Given the description of an element on the screen output the (x, y) to click on. 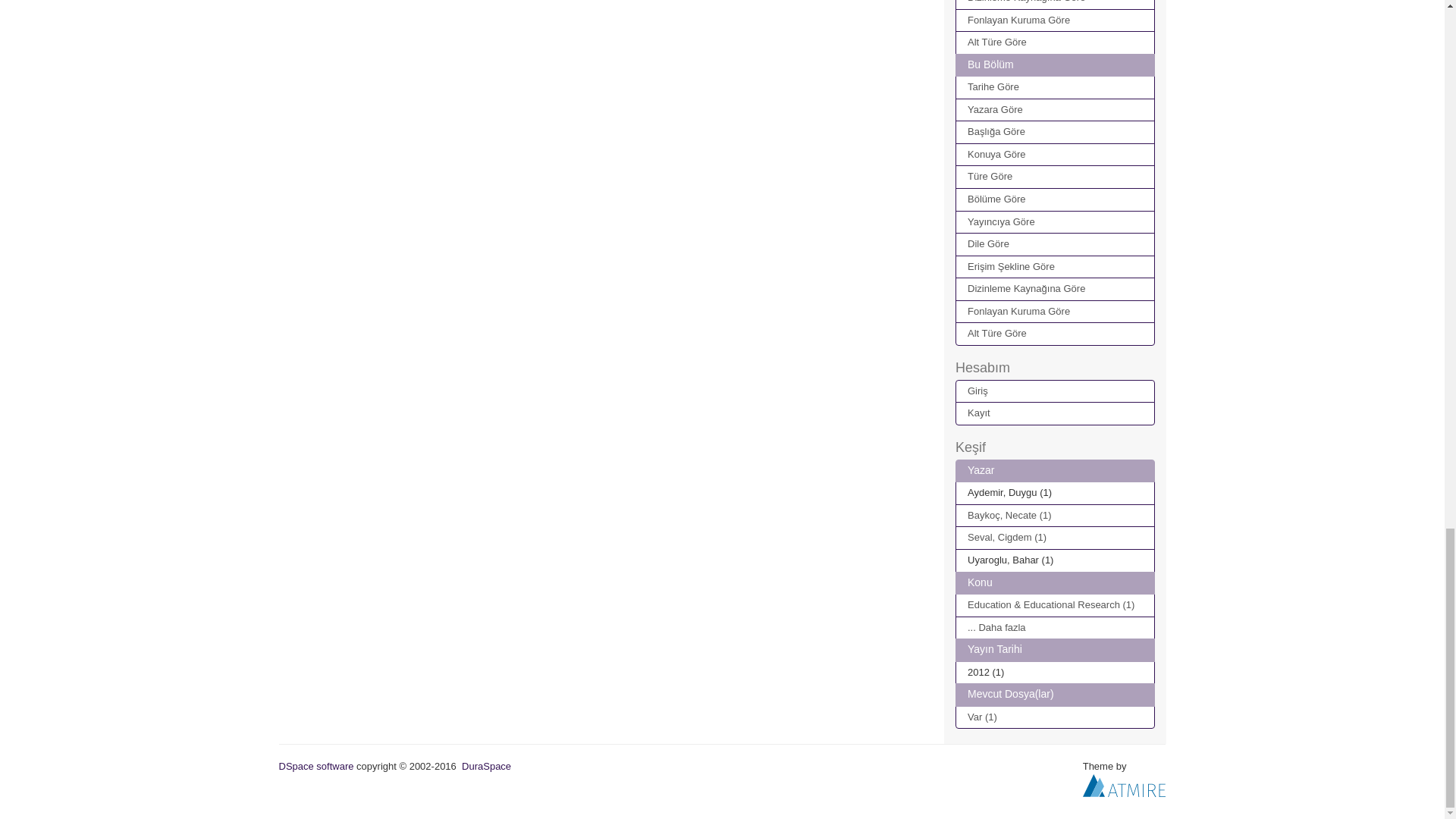
Atmire NV (1124, 784)
